Given the description of an element on the screen output the (x, y) to click on. 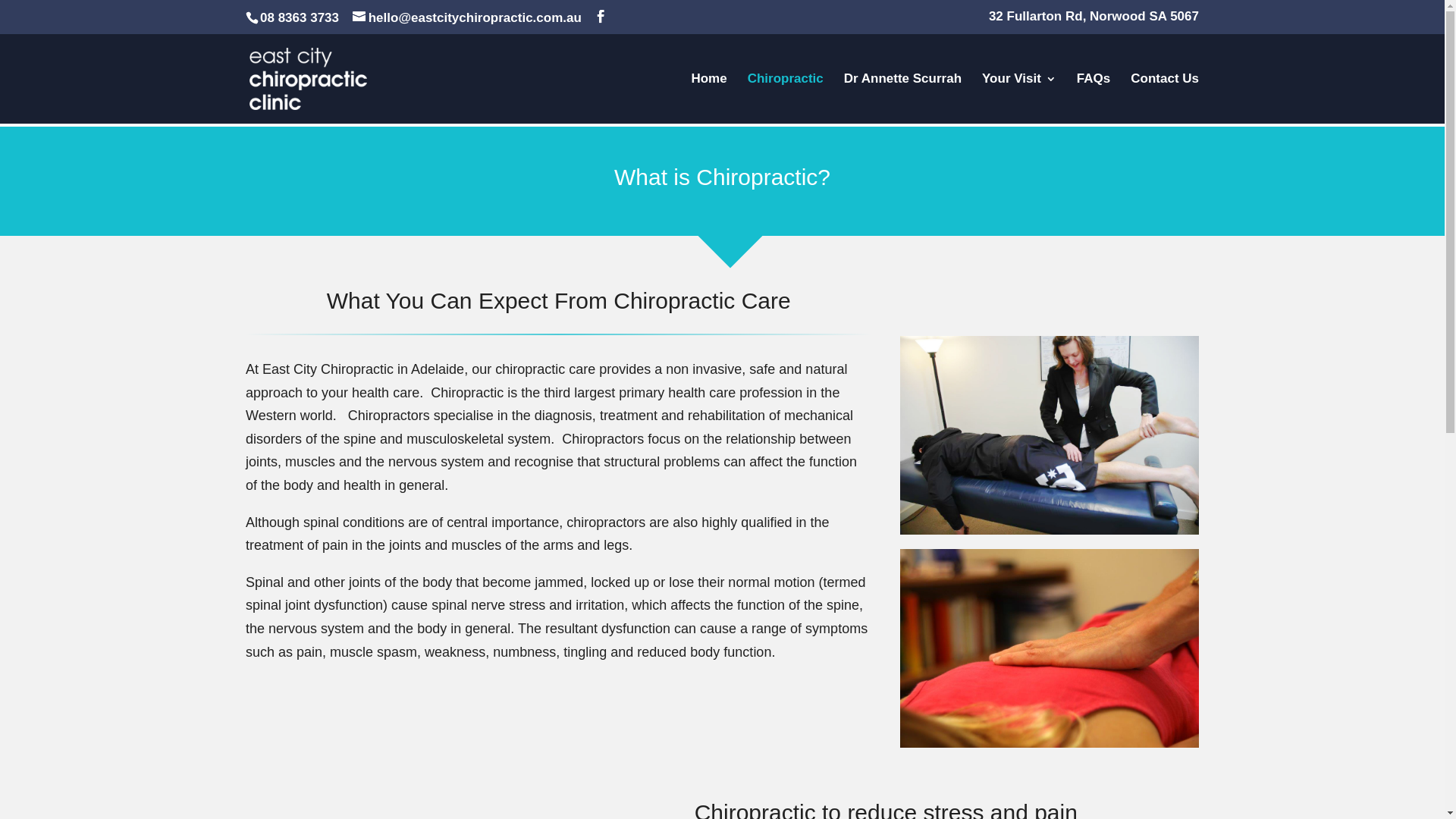
Contact Us Element type: text (1164, 97)
Home Element type: text (708, 97)
FAQs Element type: text (1093, 97)
Chiropractic Element type: text (785, 97)
32 Fullarton Rd, Norwood SA 5067 Element type: text (1093, 20)
hello@eastcitychiropractic.com.au Element type: text (466, 17)
Your Visit Element type: text (1019, 97)
Dr Annette Scurrah Element type: text (902, 97)
